Given the description of an element on the screen output the (x, y) to click on. 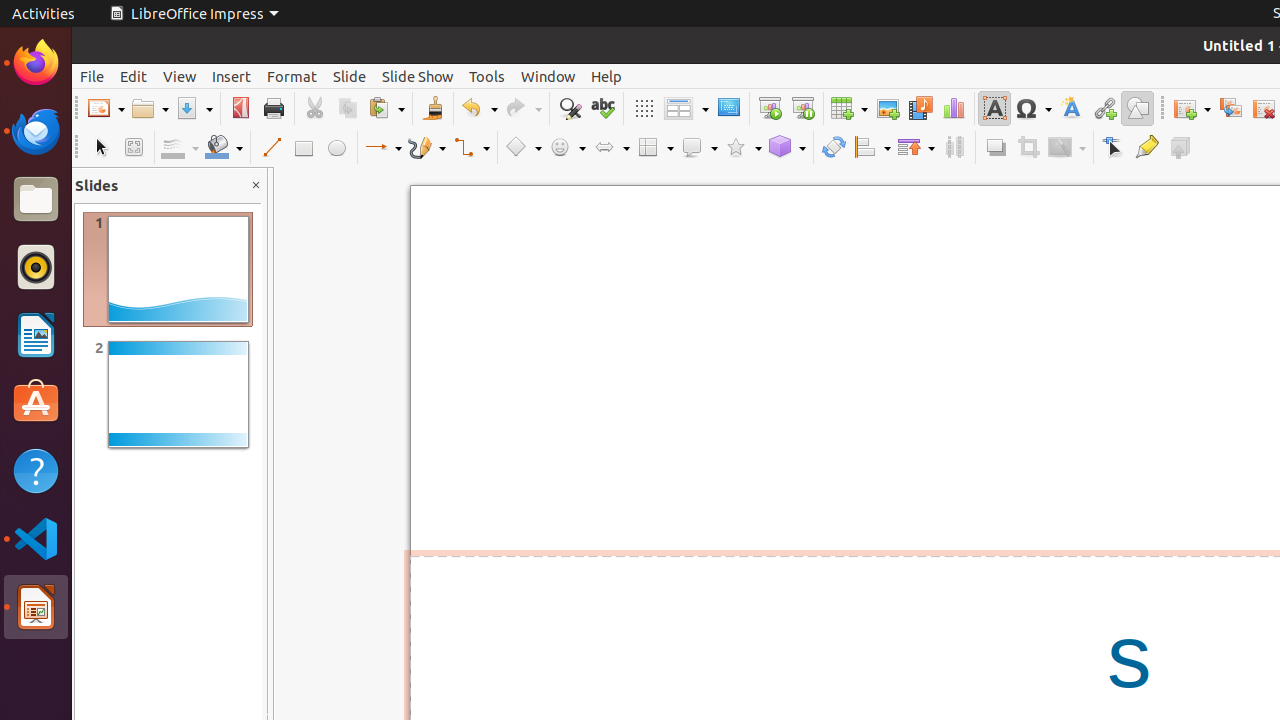
Grid Element type: toggle-button (643, 108)
Crop Element type: push-button (1028, 147)
Text Box Element type: push-button (994, 108)
Format Element type: menu (292, 76)
Display Views Element type: push-button (686, 109)
